Given the description of an element on the screen output the (x, y) to click on. 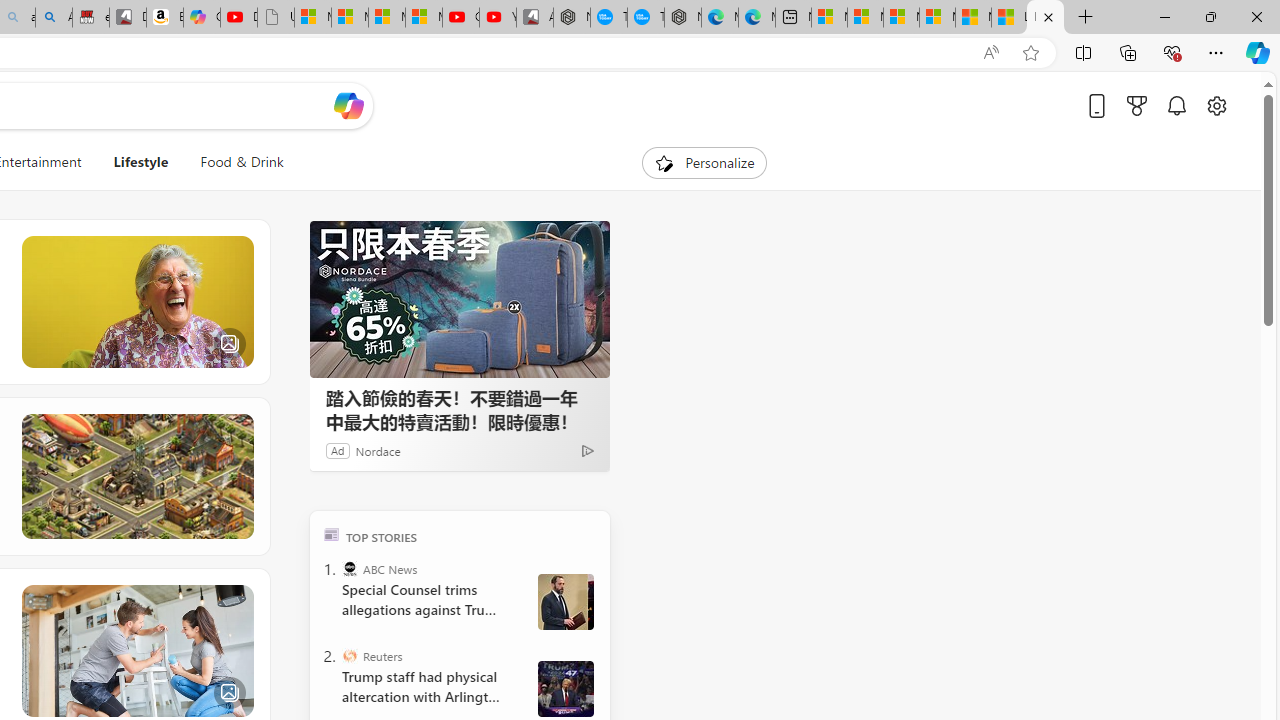
Nordace - Nordace has arrived Hong Kong (682, 17)
Microsoft account | Microsoft Account Privacy Settings (865, 17)
Lifestyle (140, 162)
Lifestyle (141, 162)
TOP (331, 534)
Open settings (1216, 105)
Amazon Echo Dot PNG - Search Images (53, 17)
Microsoft rewards (1137, 105)
